Given the description of an element on the screen output the (x, y) to click on. 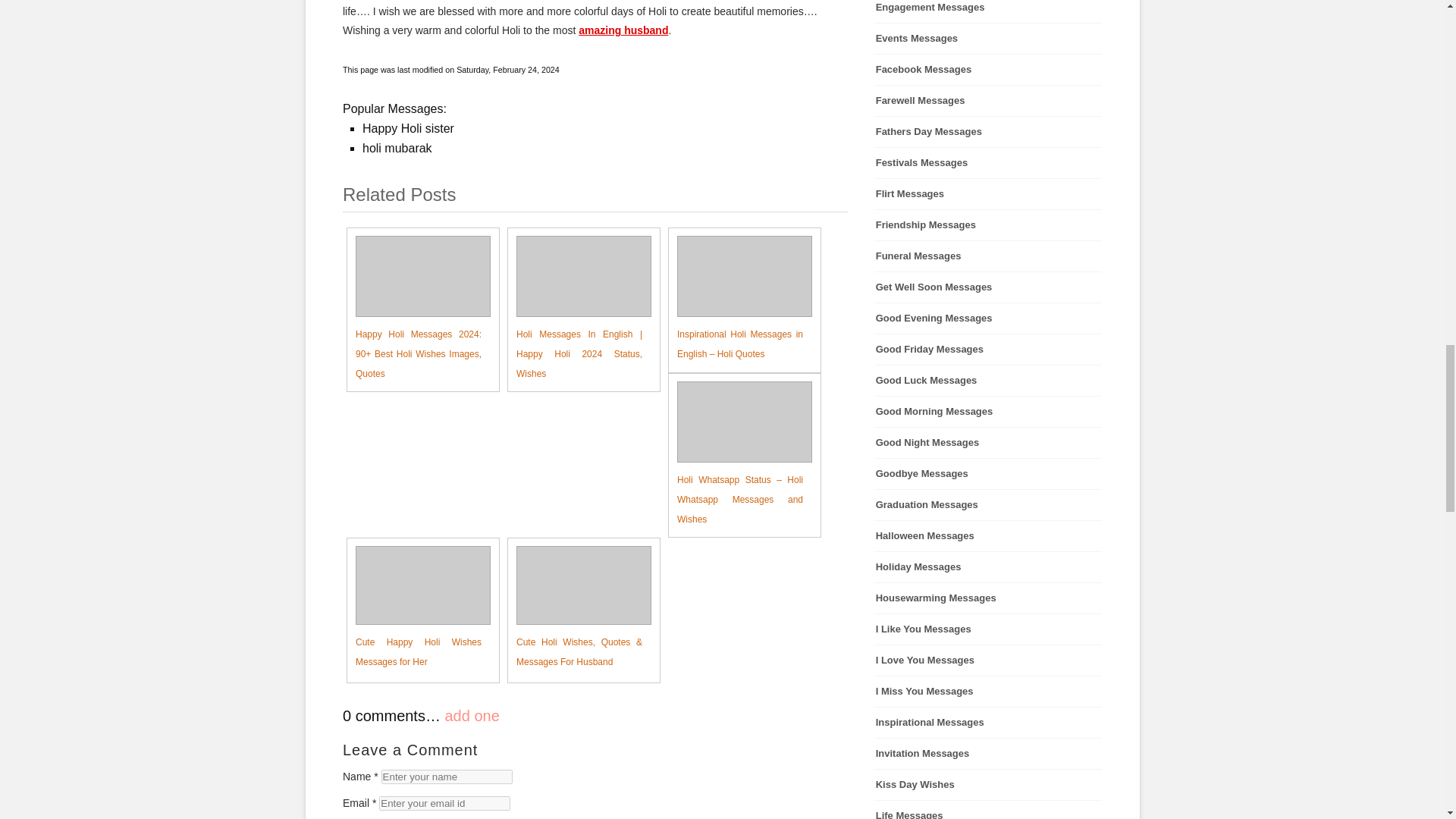
amazing husband (623, 30)
Cute Happy Holi Wishes Messages for Her (414, 608)
add one (471, 715)
Cute Happy Holi Wishes Messages for Her (414, 608)
